Given the description of an element on the screen output the (x, y) to click on. 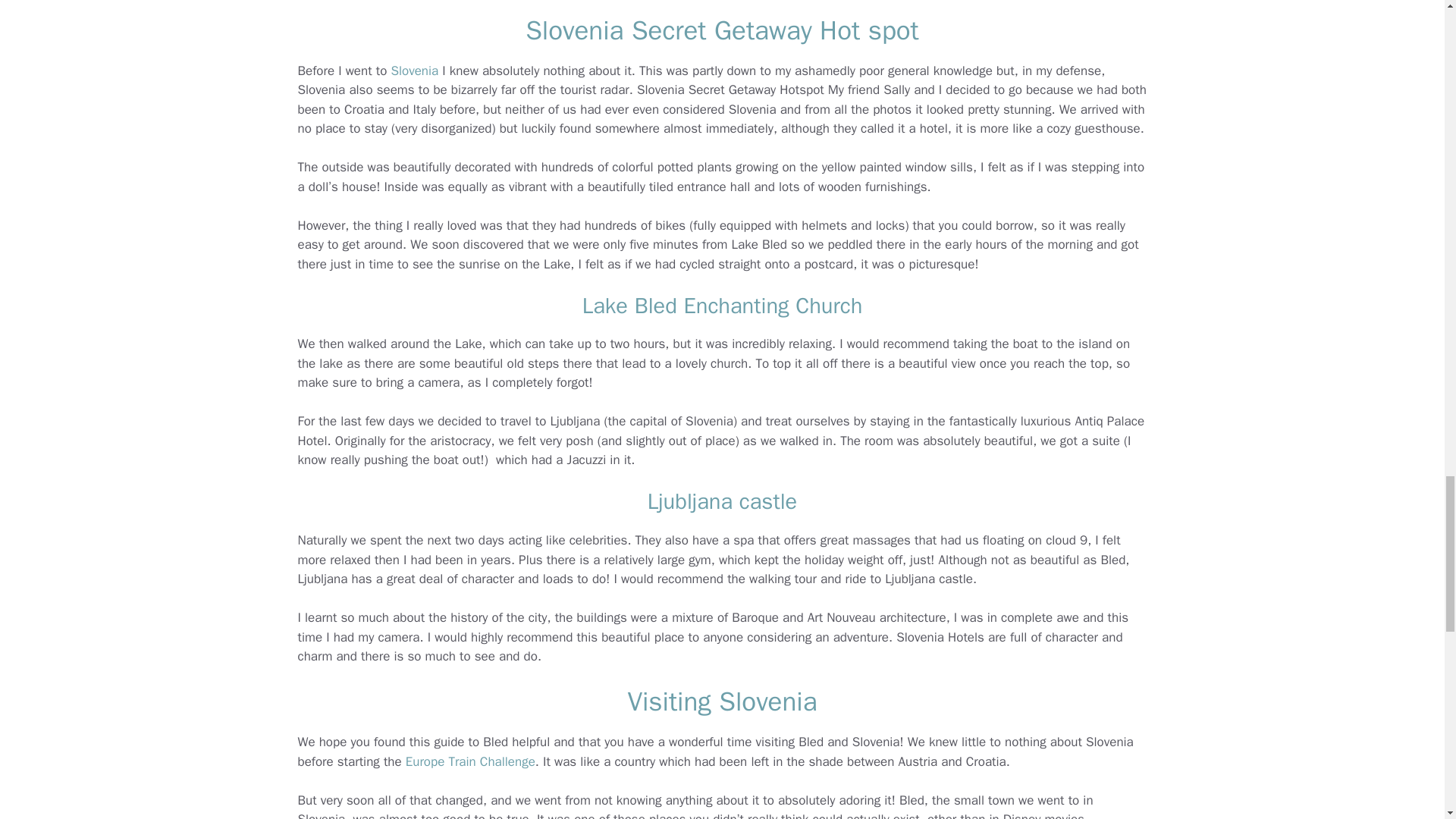
Europe Train Challenge (470, 761)
Slovenia (414, 70)
